Given the description of an element on the screen output the (x, y) to click on. 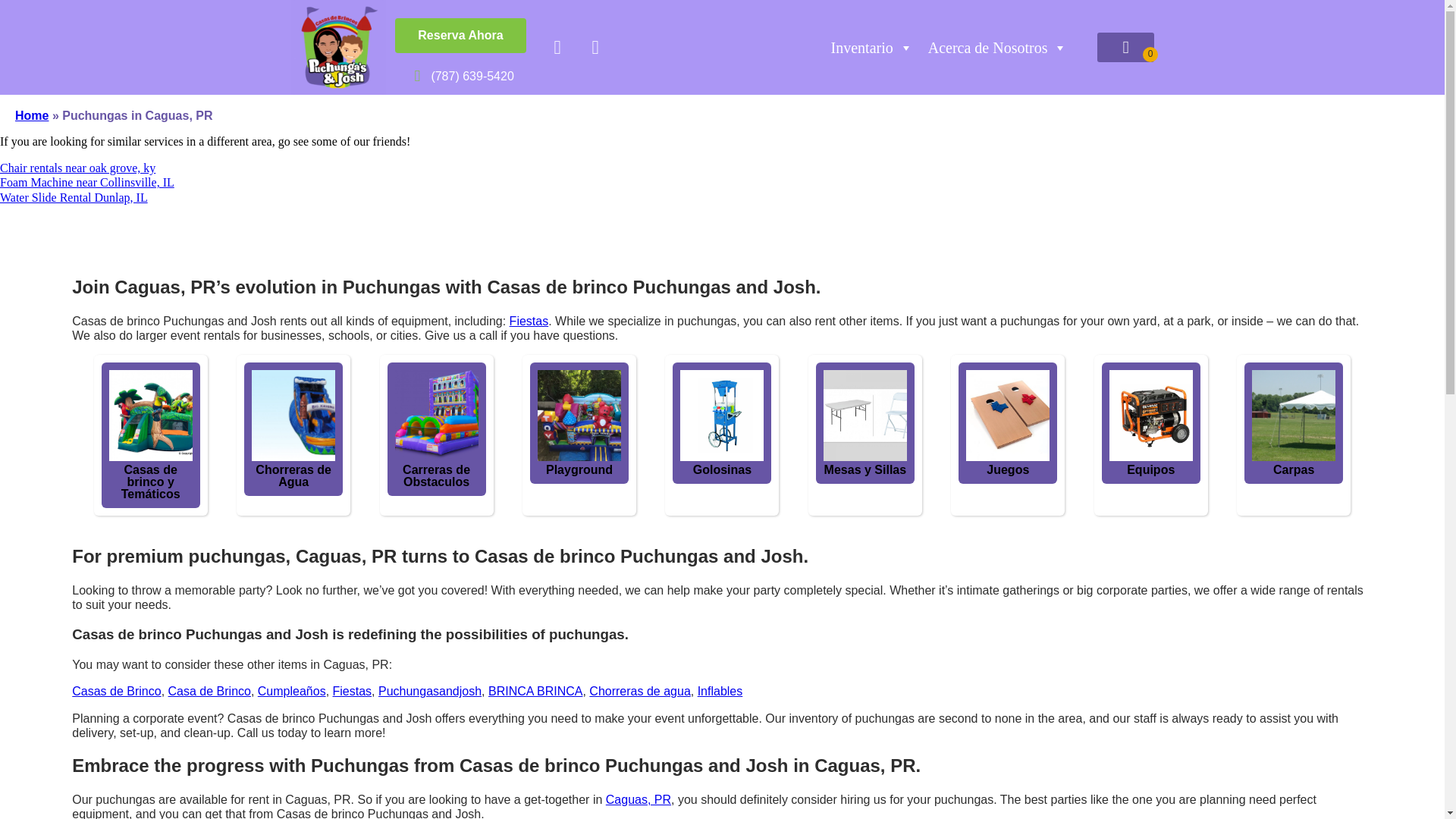
Mesas y Sillas (869, 415)
Acerca de Nosotros (997, 46)
Chair rentals near oak grove, ky (77, 167)
Inventario (872, 46)
Equipos (1154, 415)
Chorreras de Agua (292, 476)
Juegos (1011, 415)
Playground (598, 415)
Golosinas (725, 415)
Fiestas (528, 320)
Foam Machine near Collinsville, IL (87, 182)
Reserva Ahora (459, 35)
Carreras de Obstaculos (455, 415)
Chorreras de Agua (322, 415)
Home (31, 115)
